Given the description of an element on the screen output the (x, y) to click on. 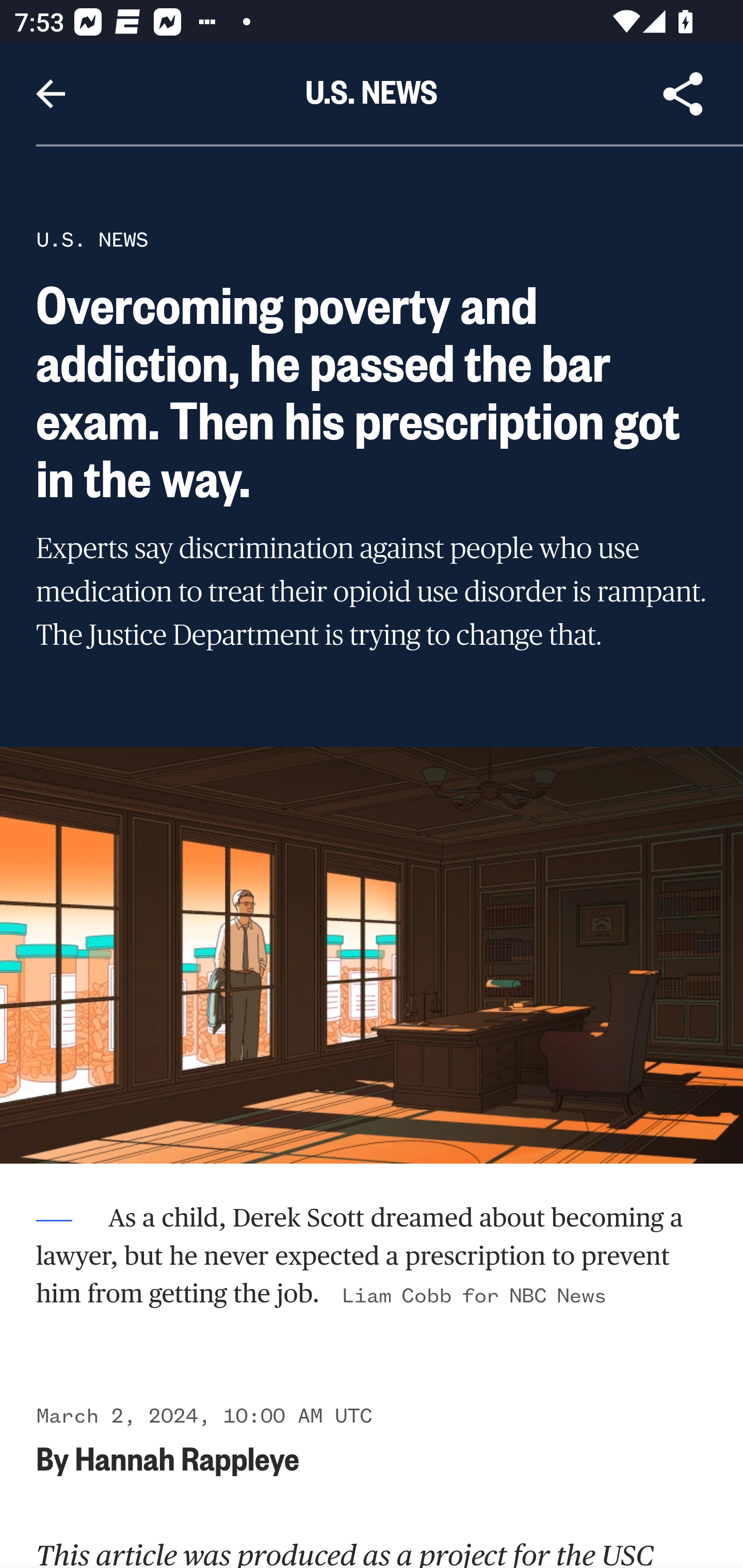
Navigate up (50, 93)
Share Article, button (683, 94)
U.S. NEWS (91, 239)
